Given the description of an element on the screen output the (x, y) to click on. 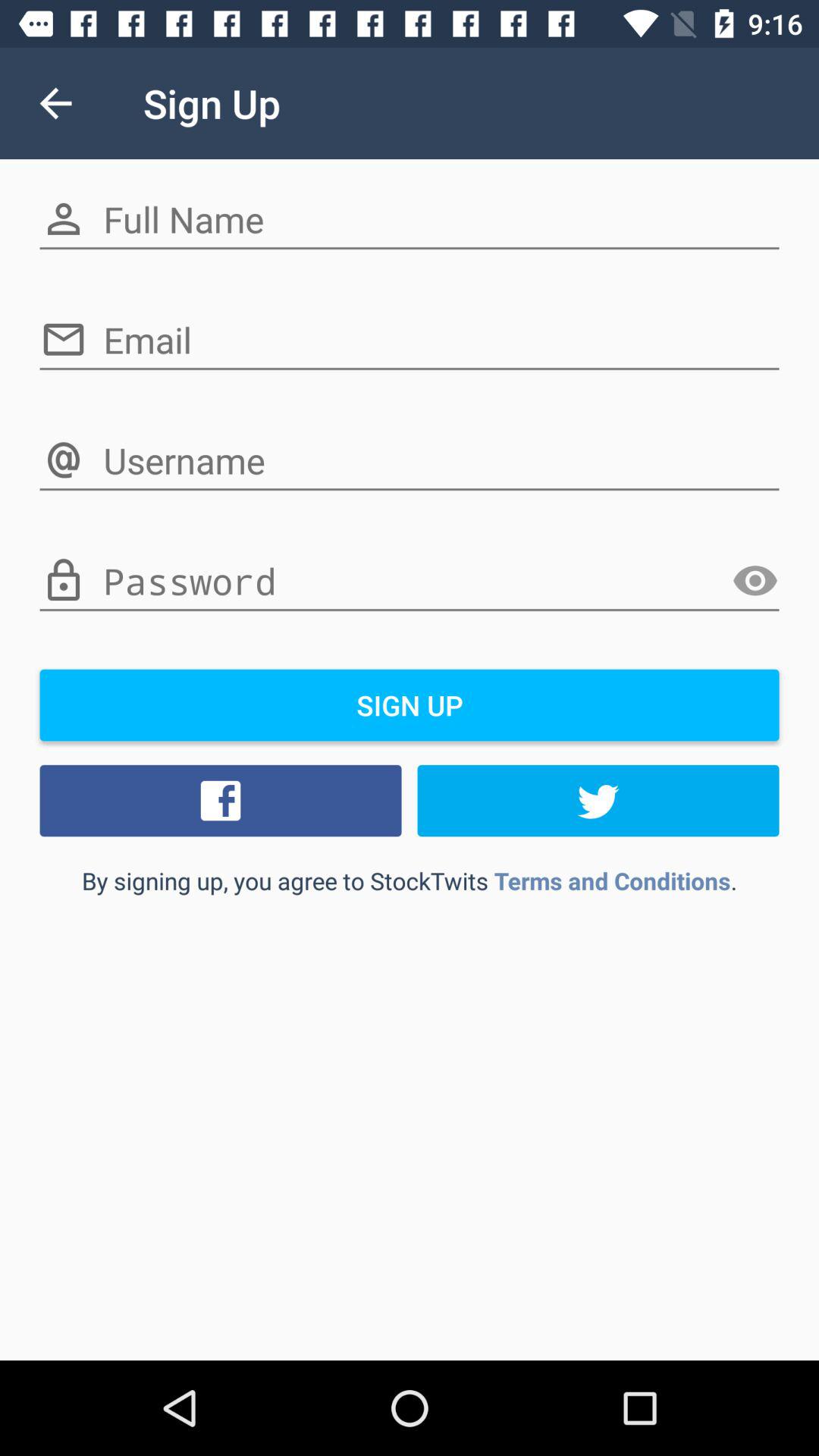
tap icon above the by signing up icon (220, 800)
